Given the description of an element on the screen output the (x, y) to click on. 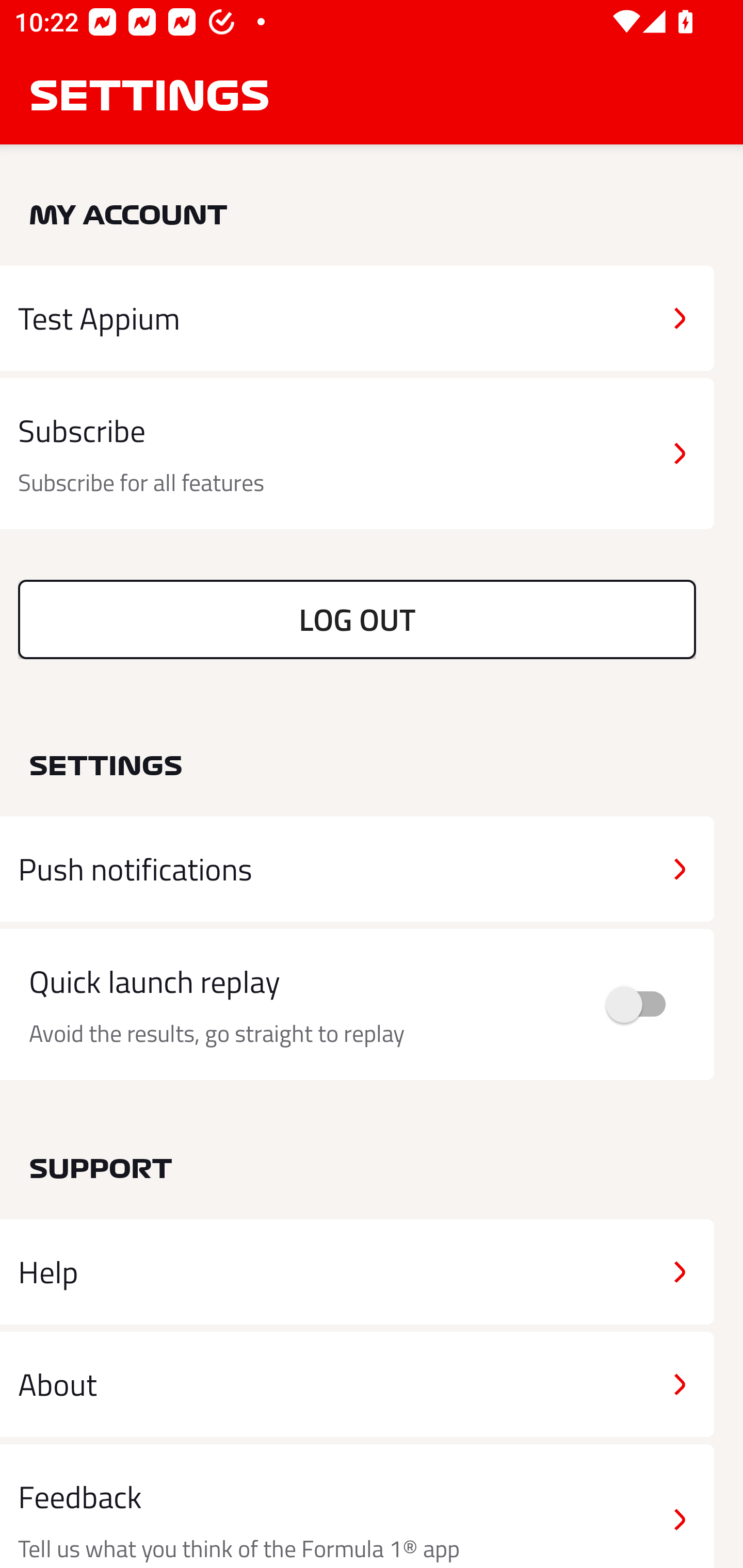
Test Appium (357, 317)
Subscribe Subscribe for all features (357, 453)
LOG OUT (356, 619)
Push notifications (357, 868)
Help (357, 1271)
About (357, 1383)
